Given the description of an element on the screen output the (x, y) to click on. 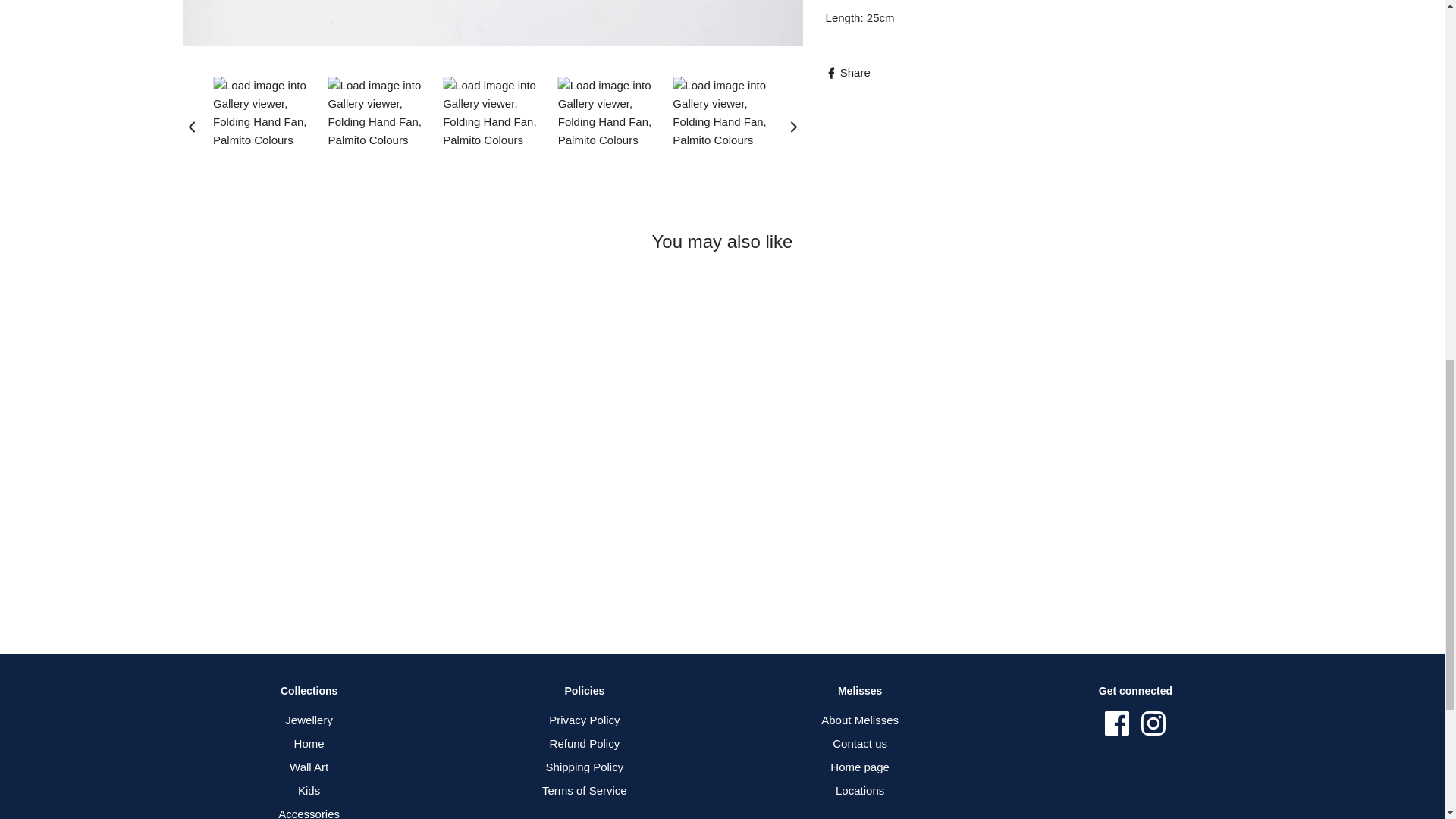
Facebook icon (1117, 723)
Instagram icon (1153, 723)
